Given the description of an element on the screen output the (x, y) to click on. 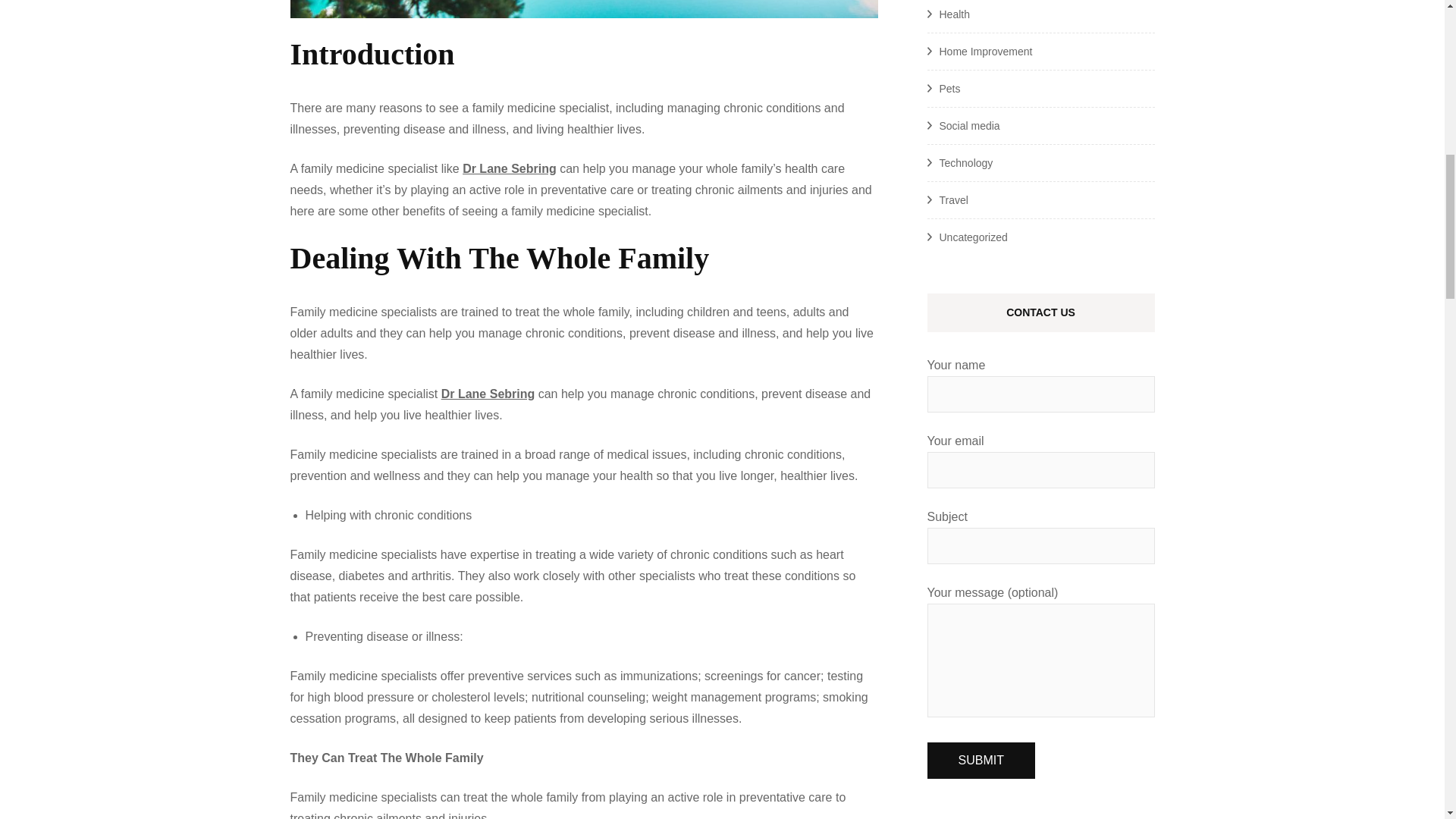
Dr Lane Sebring (509, 168)
Submit (979, 760)
Dr Lane Sebring (488, 393)
